Given the description of an element on the screen output the (x, y) to click on. 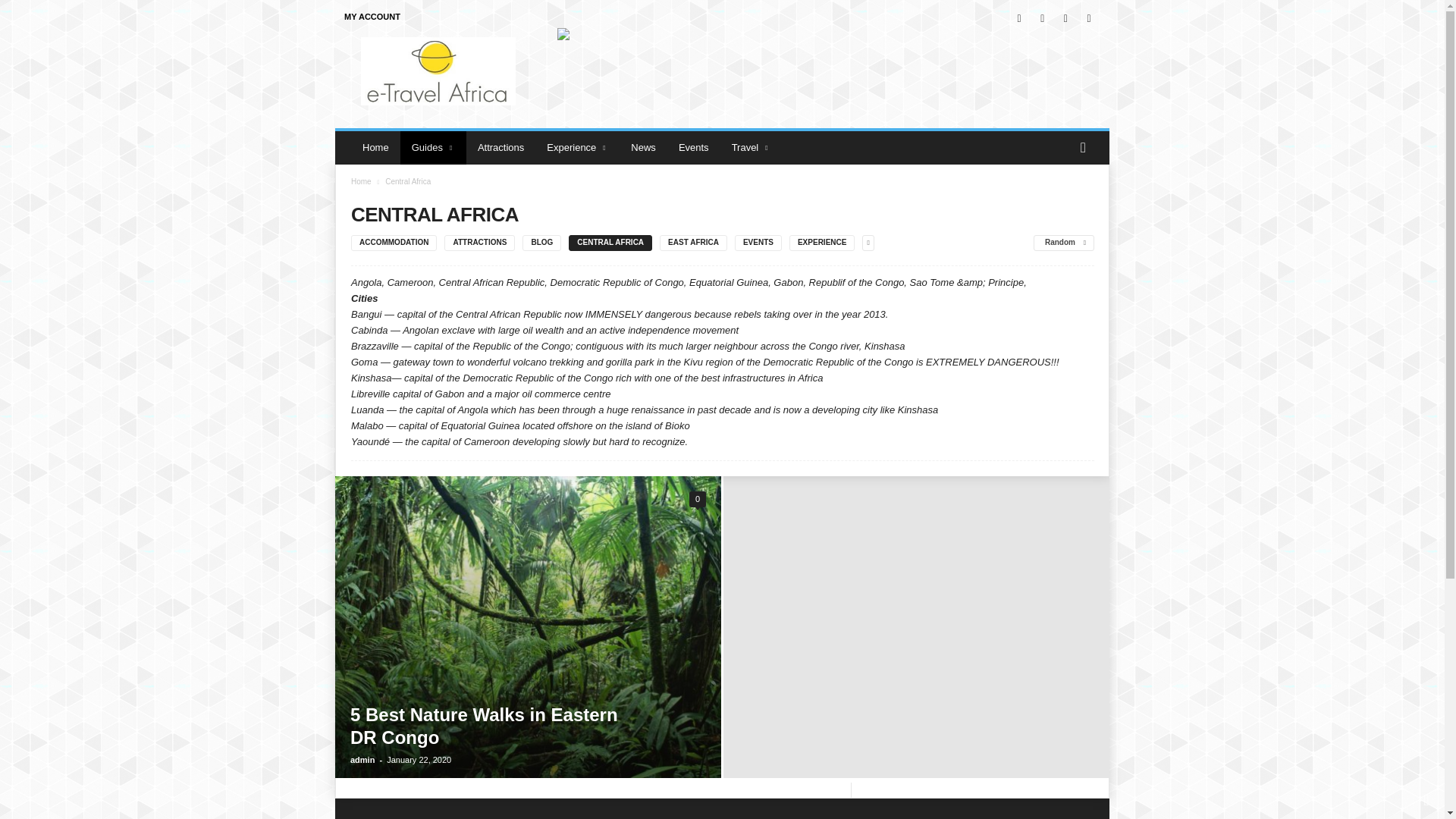
eTravel Africa (437, 70)
Guides (432, 147)
Home (375, 147)
